Given the description of an element on the screen output the (x, y) to click on. 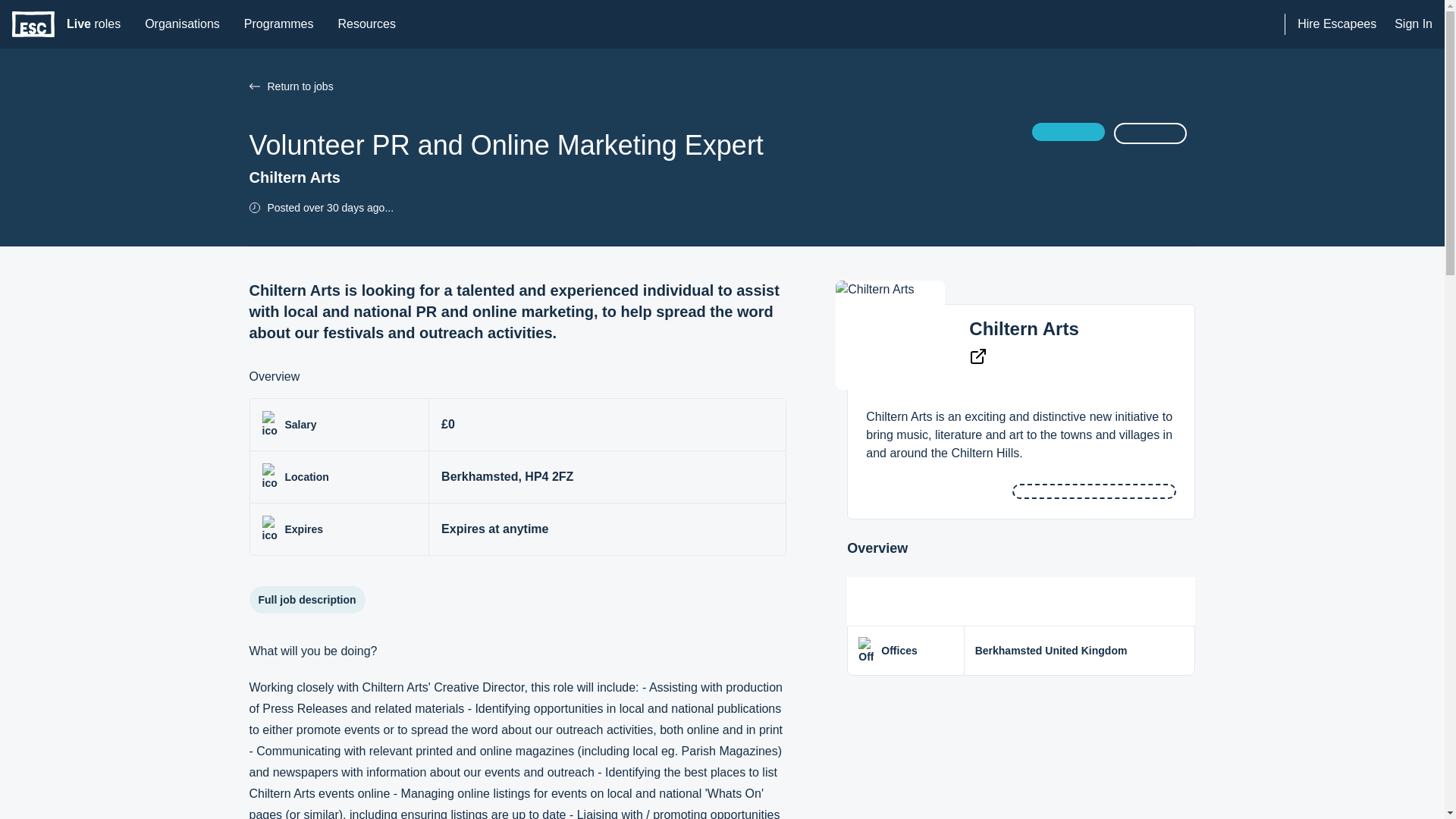
Organisations (181, 24)
Return to jobs (253, 86)
Hire Escapees (1336, 24)
Escape the City (33, 24)
Resources (365, 24)
Chiltern Arts (1023, 328)
Programmes (278, 24)
Return to jobs (639, 86)
